Given the description of an element on the screen output the (x, y) to click on. 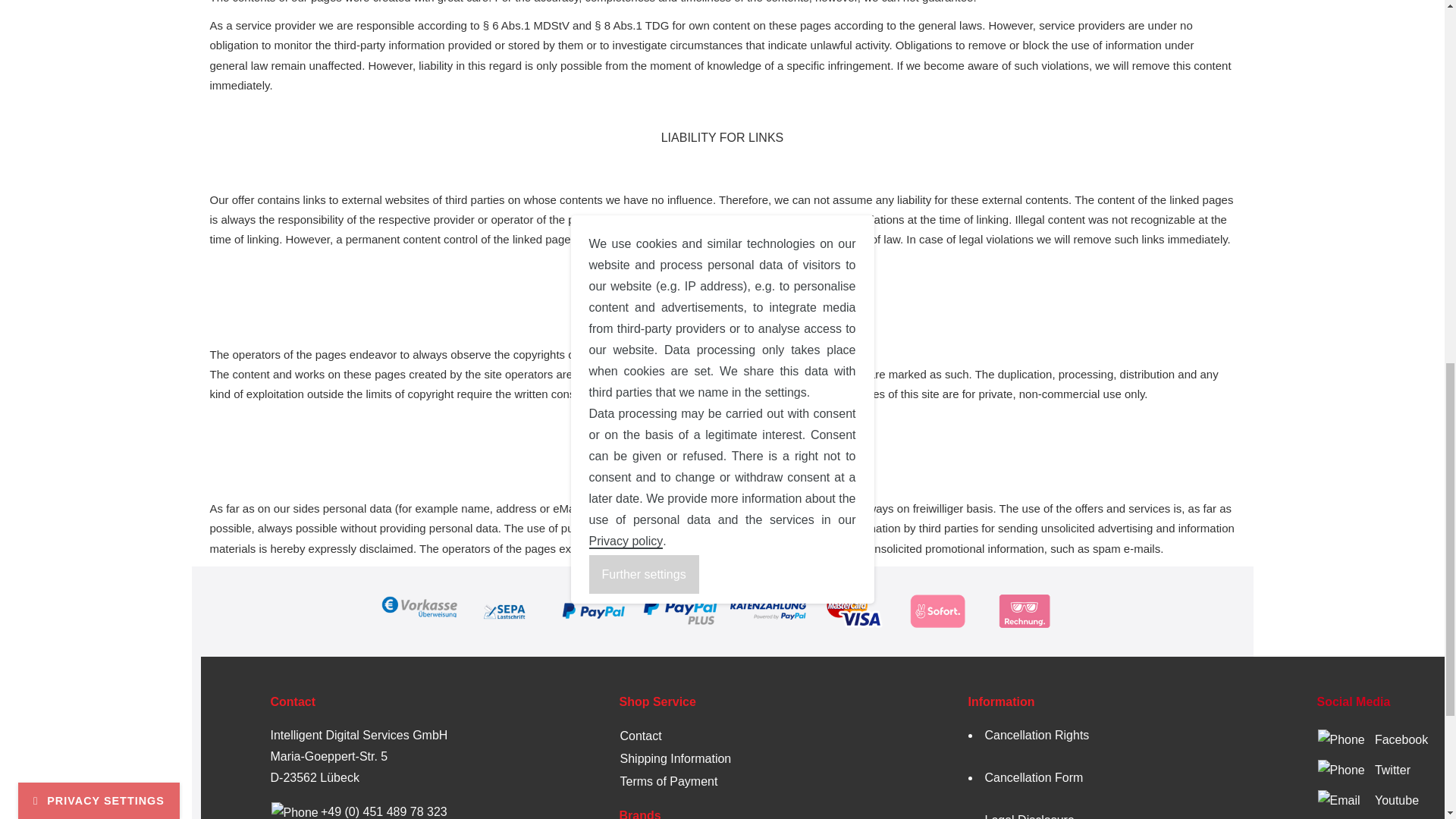
Terms of Payment (668, 780)
Shipping Information (676, 758)
Contact (641, 735)
